Given the description of an element on the screen output the (x, y) to click on. 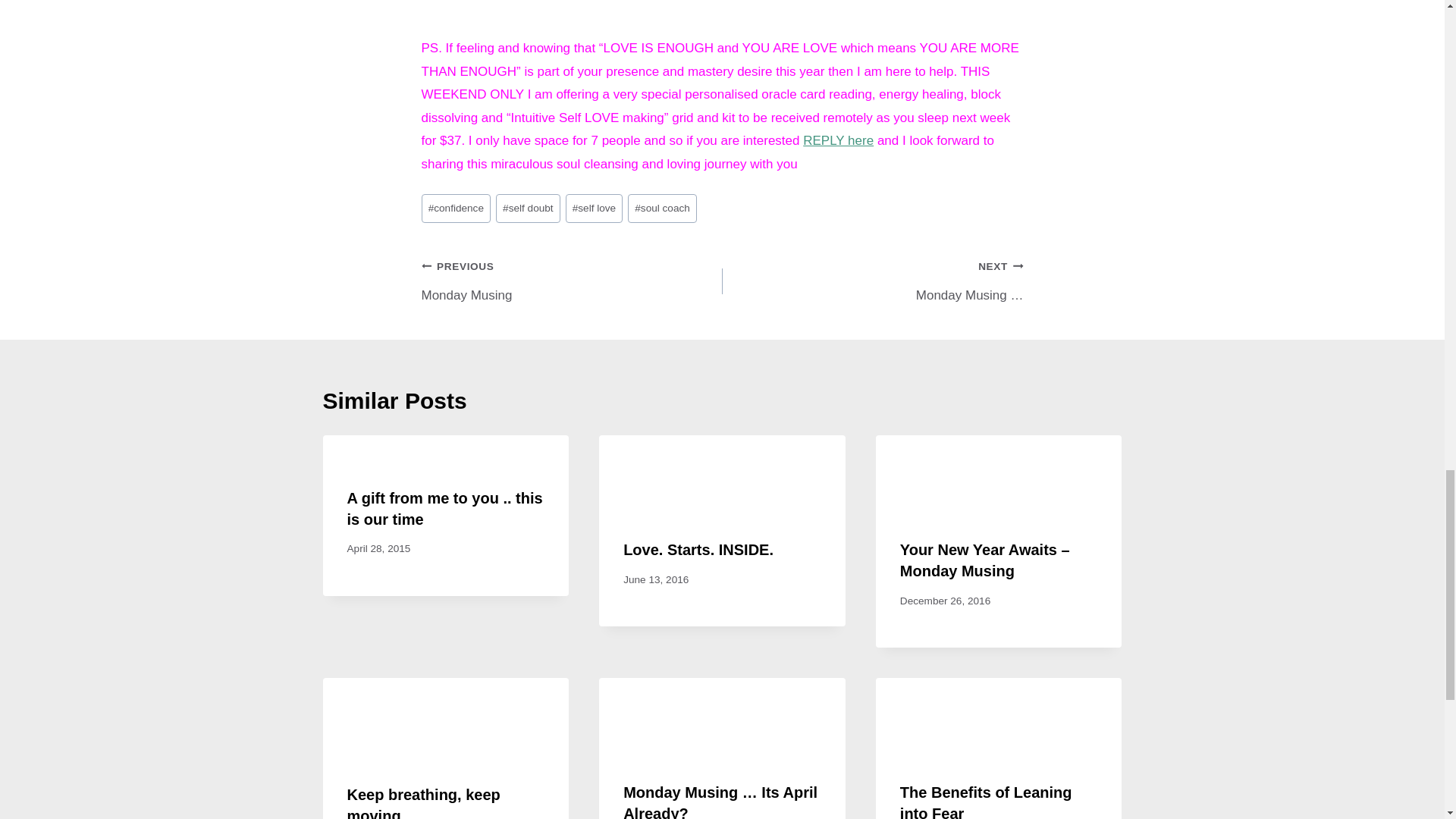
Connect (838, 140)
self love (594, 207)
self doubt (572, 280)
soul coach (528, 207)
REPLY here (662, 207)
A gift from me to you .. this is our time (838, 140)
confidence (445, 508)
